Given the description of an element on the screen output the (x, y) to click on. 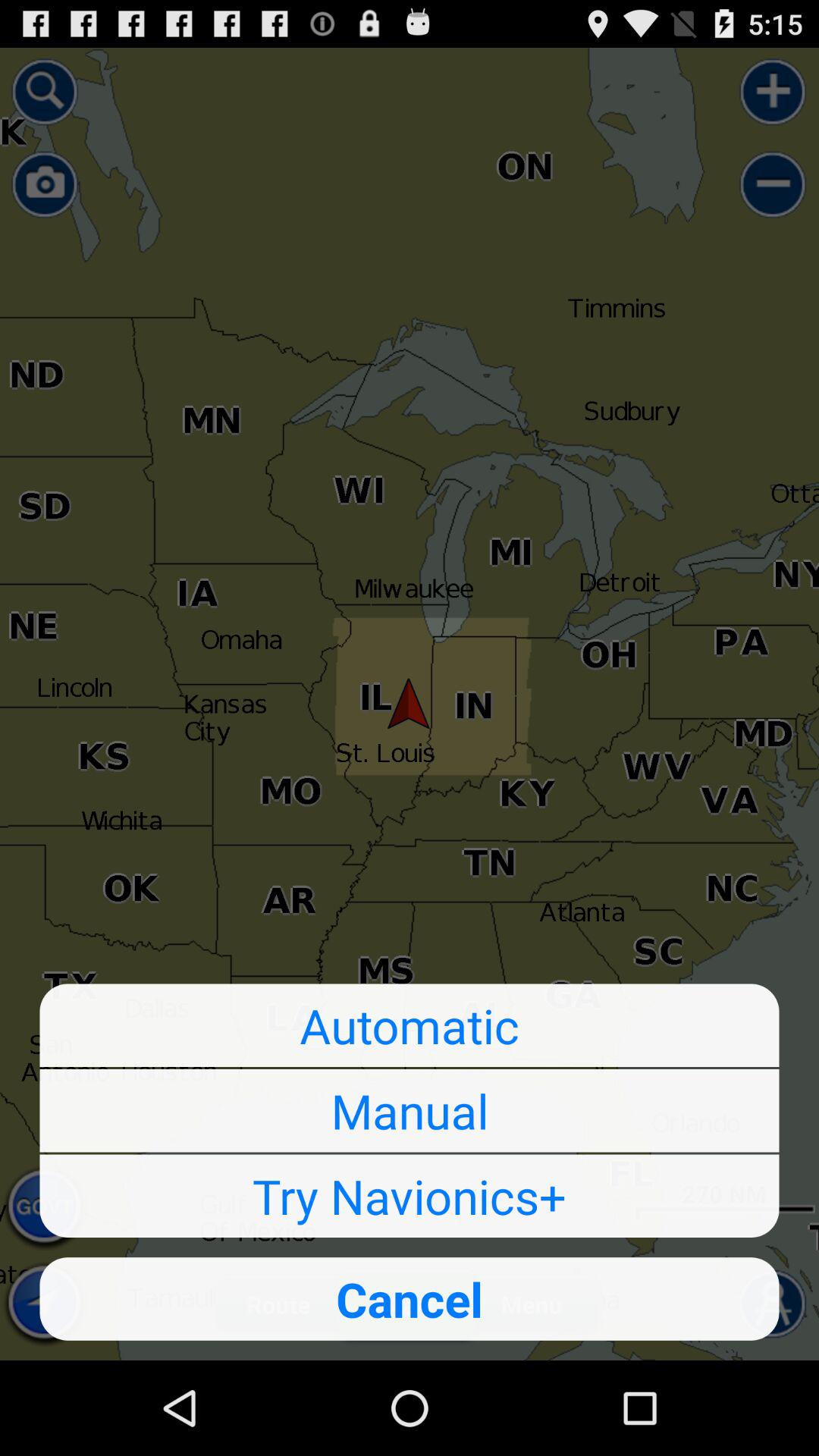
swipe until the manual item (409, 1110)
